Given the description of an element on the screen output the (x, y) to click on. 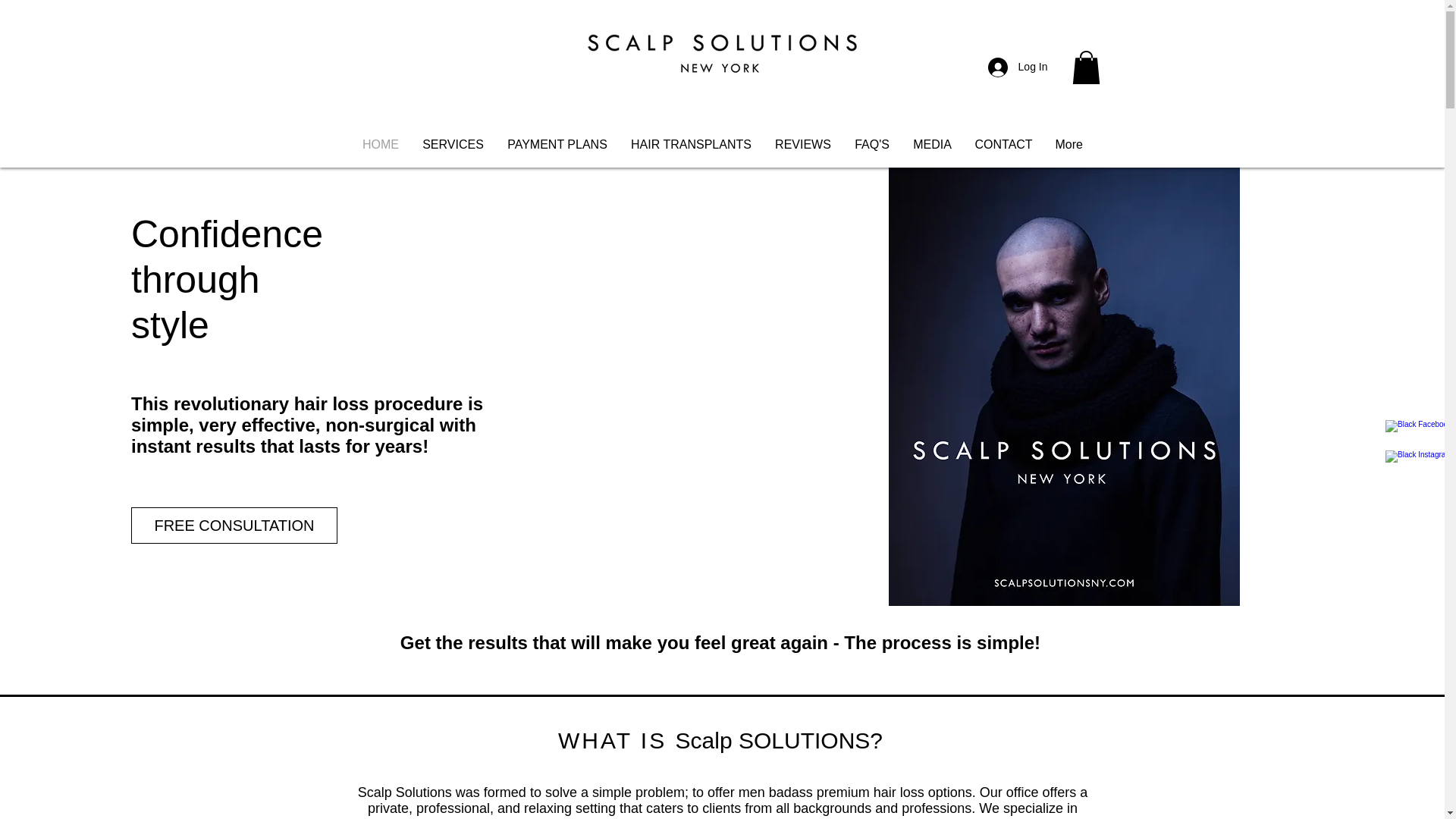
HAIR TRANSPLANTS (690, 144)
PAYMENT PLANS (558, 144)
MEDIA (931, 144)
CONTACT (1002, 144)
GET STARTED (1012, 76)
HOME (380, 144)
FREE CONSULTATION (234, 524)
SERVICES (453, 144)
Log In (1017, 67)
FAQ'S (872, 144)
REVIEWS (802, 144)
